Given the description of an element on the screen output the (x, y) to click on. 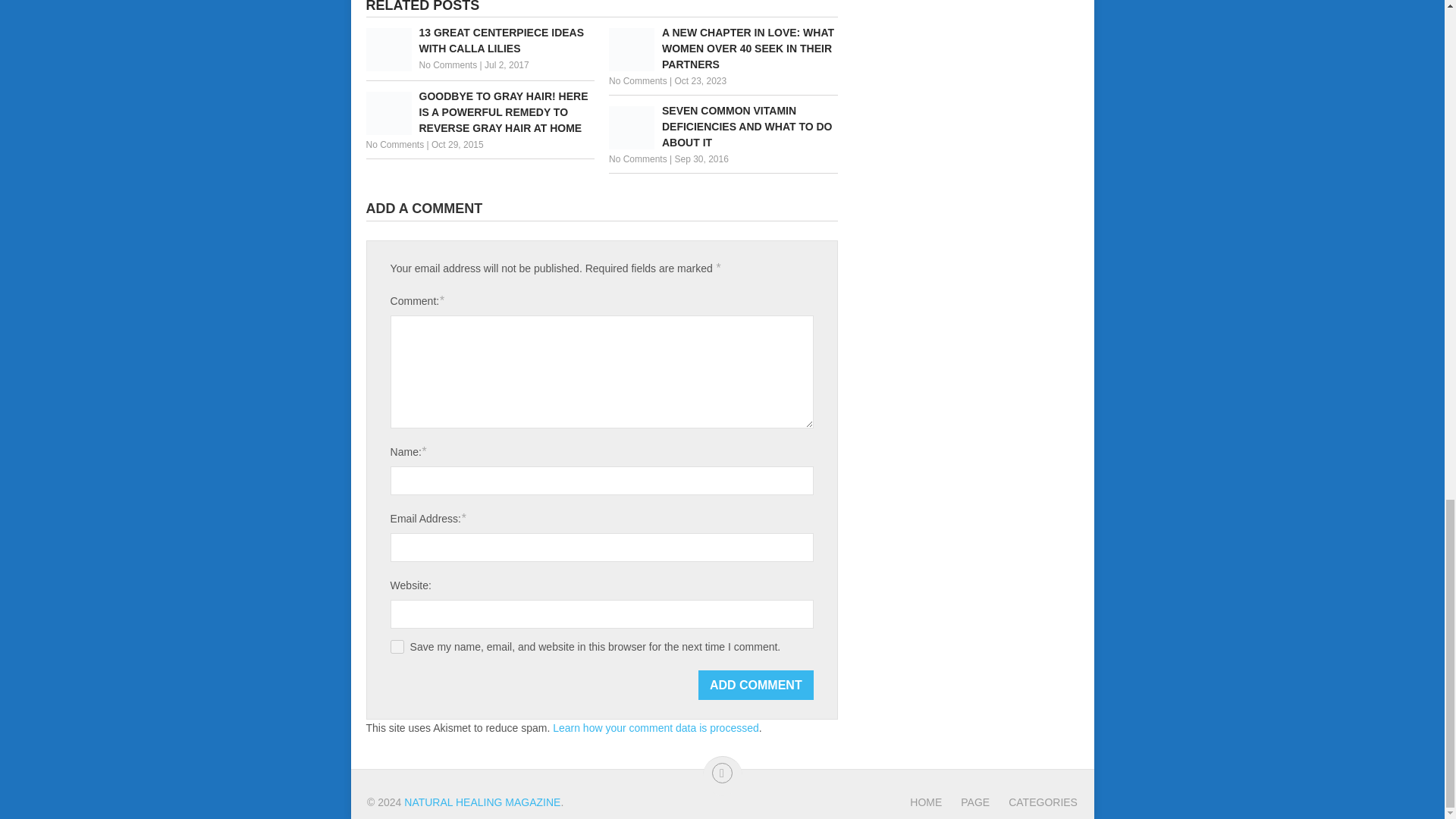
Learn how your comment data is processed (655, 727)
No Comments (394, 144)
No Comments (637, 81)
13 Great Centerpiece Ideas With Calla Lilies (479, 40)
Add Comment (755, 685)
No Comments (448, 64)
Seven Common Vitamin Deficiencies And What To Do About It (723, 126)
13 GREAT CENTERPIECE IDEAS WITH CALLA LILIES (479, 40)
No Comments (637, 158)
yes (397, 646)
Add Comment (755, 685)
SEVEN COMMON VITAMIN DEFICIENCIES AND WHAT TO DO ABOUT IT (723, 126)
